Given the description of an element on the screen output the (x, y) to click on. 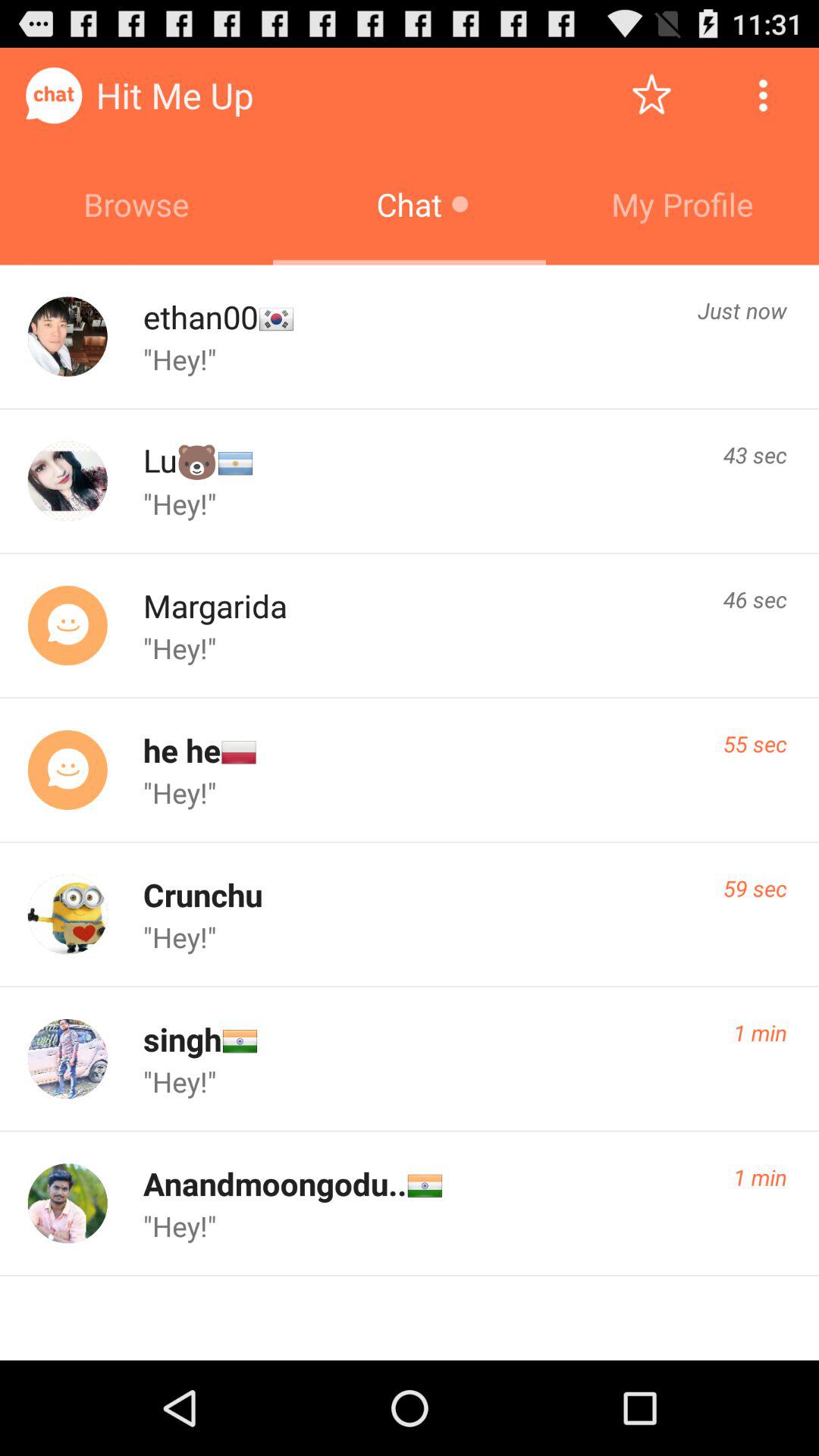
open item next to the crunchu (755, 888)
